Given the description of an element on the screen output the (x, y) to click on. 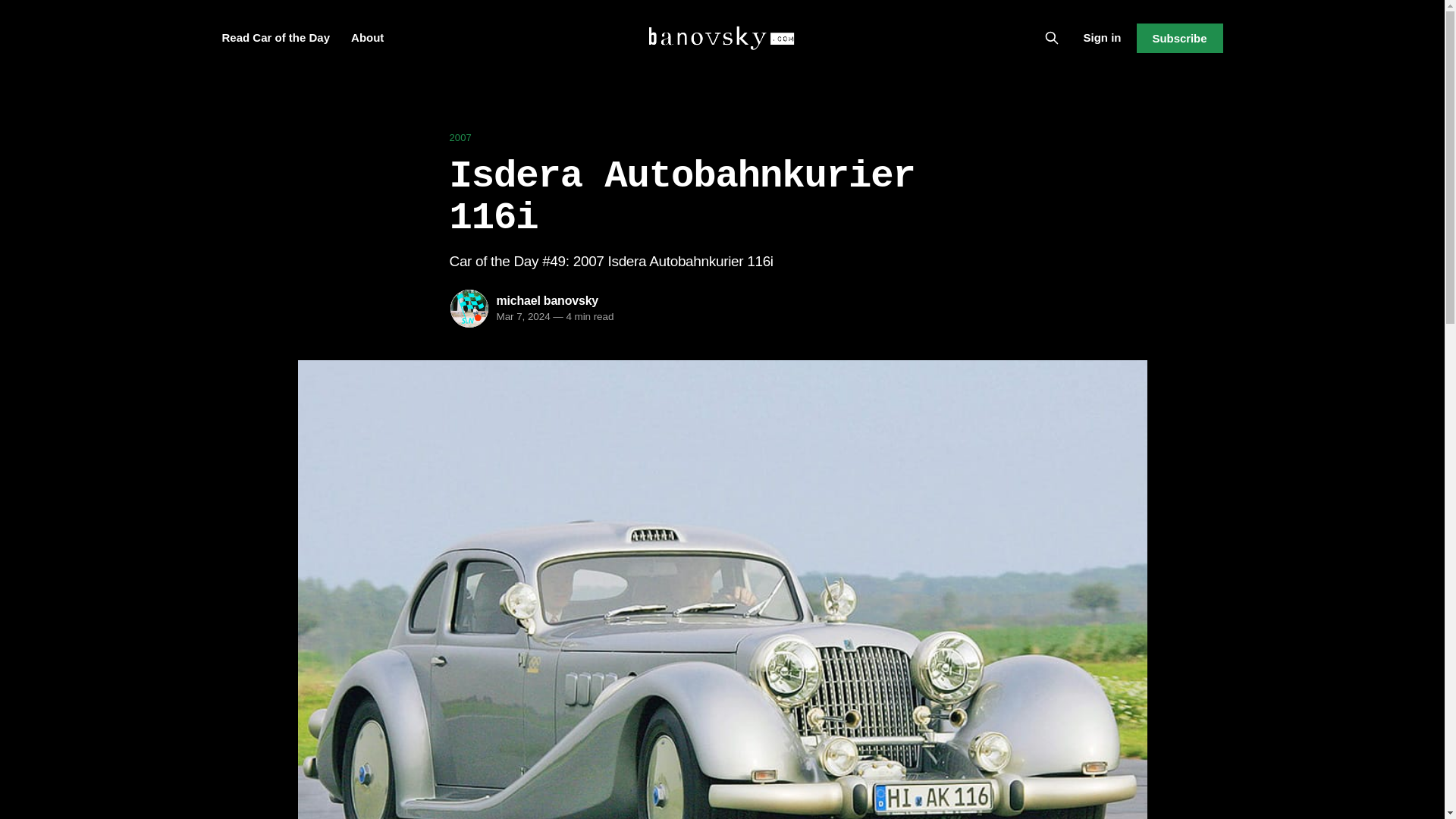
2007 (721, 138)
michael banovsky (547, 300)
Sign in (1102, 37)
Read Car of the Day (275, 37)
About (367, 37)
Subscribe (1179, 37)
